Given the description of an element on the screen output the (x, y) to click on. 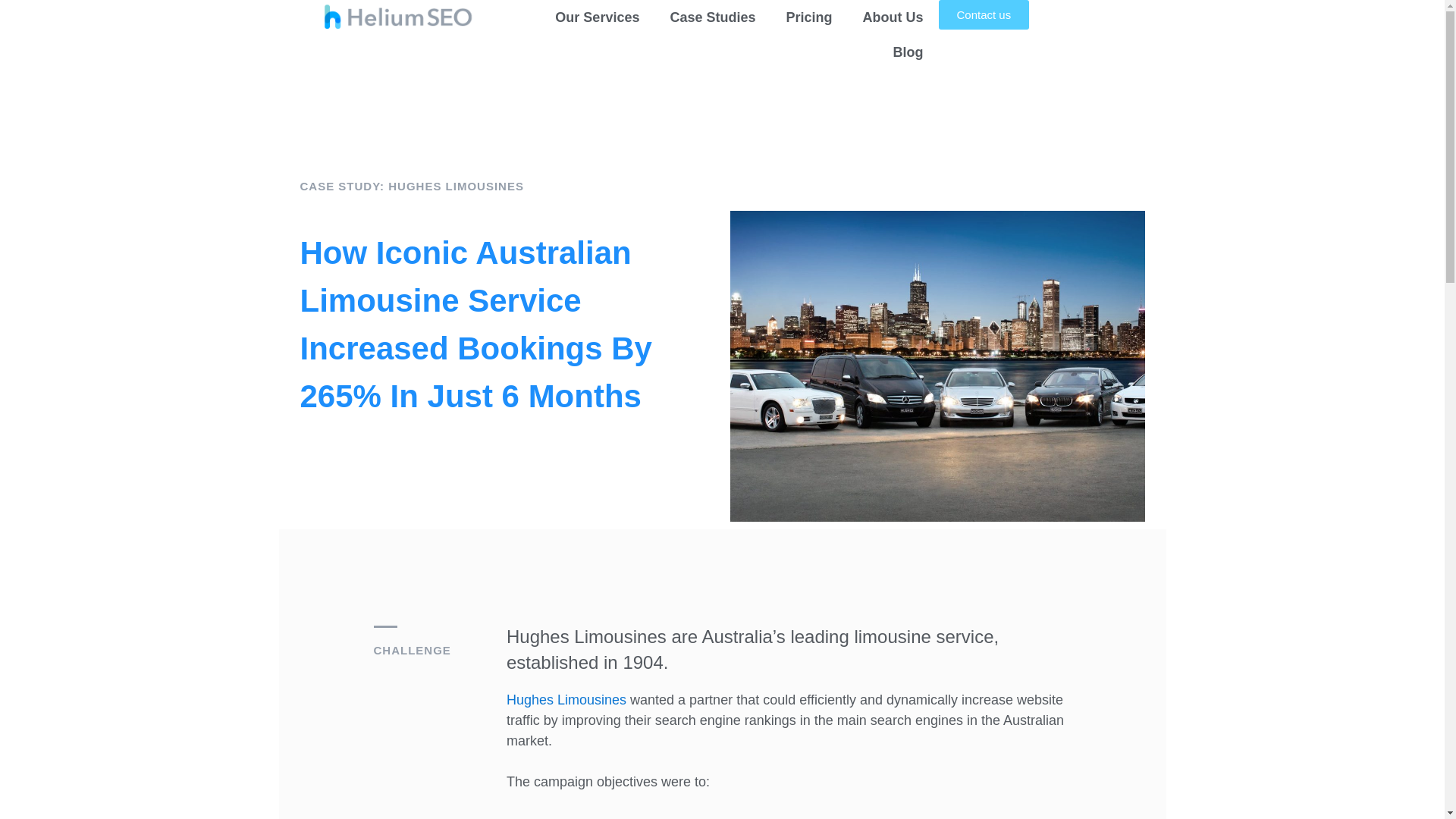
Contact us Element type: text (983, 14)
Our Services Element type: text (596, 17)
Pricing Element type: text (808, 17)
Case Studies Element type: text (712, 17)
About Us Element type: text (892, 17)
Hughes Limousines Element type: text (566, 699)
Blog Element type: text (908, 51)
